Given the description of an element on the screen output the (x, y) to click on. 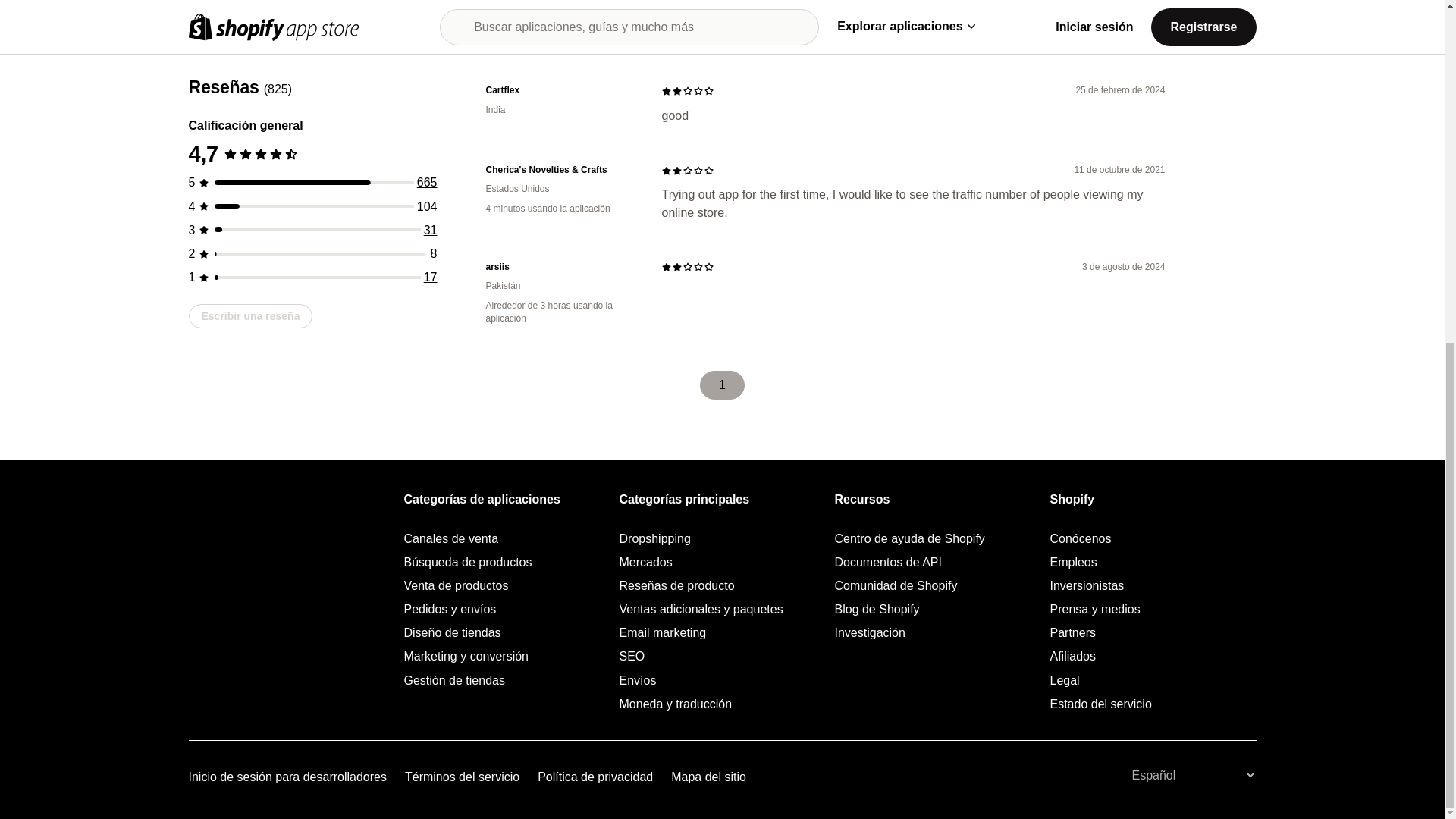
arsiis (560, 267)
GALAXY LIGHTS (560, 6)
Cartflex  (560, 90)
